Given the description of an element on the screen output the (x, y) to click on. 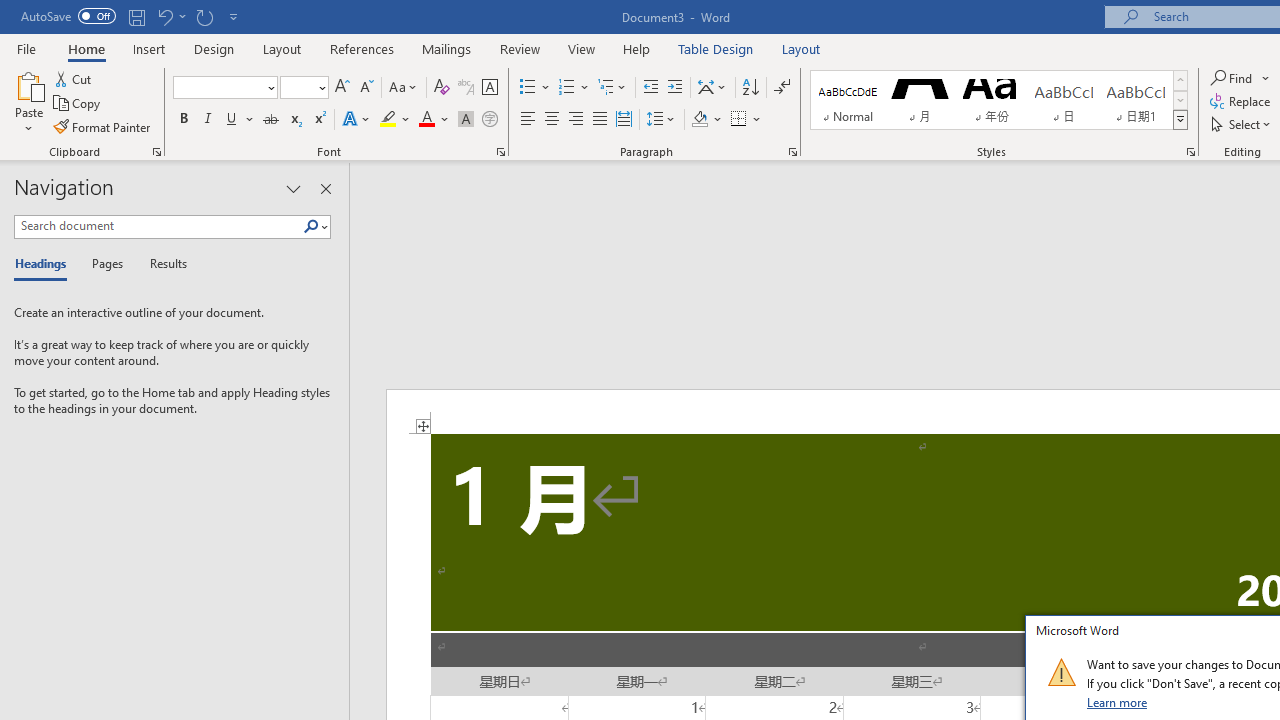
Row Down (1179, 100)
Task Pane Options (293, 188)
AutoSave (68, 16)
Shading RGB(0, 0, 0) (699, 119)
Headings (45, 264)
Pages (105, 264)
Quick Access Toolbar (131, 16)
Paragraph... (792, 151)
Strikethrough (270, 119)
Repeat Style (204, 15)
Bold (183, 119)
Center (552, 119)
